Given the description of an element on the screen output the (x, y) to click on. 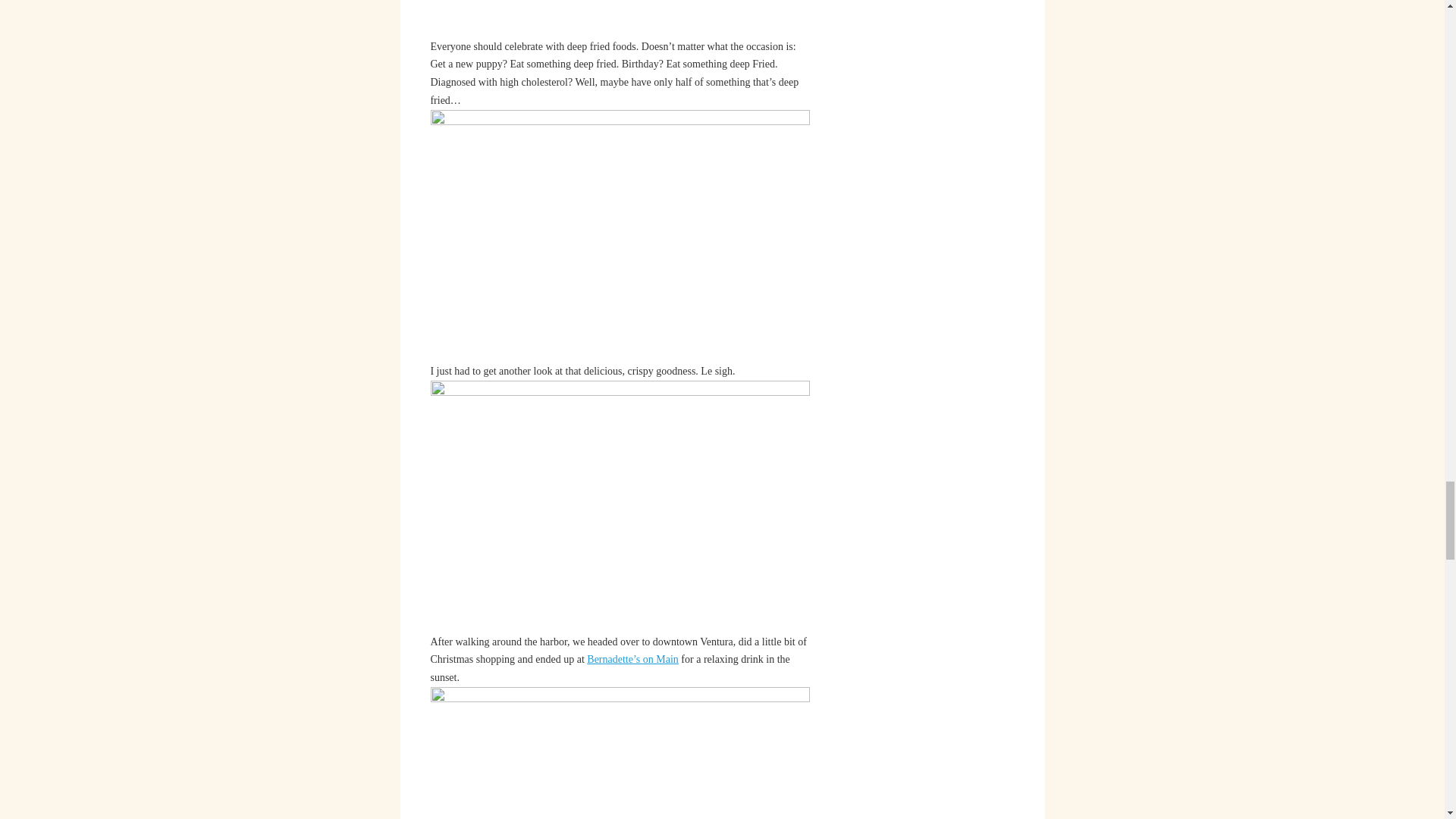
AM1 (619, 235)
AM6 (619, 753)
AM (619, 18)
AM9 (619, 505)
